Given the description of an element on the screen output the (x, y) to click on. 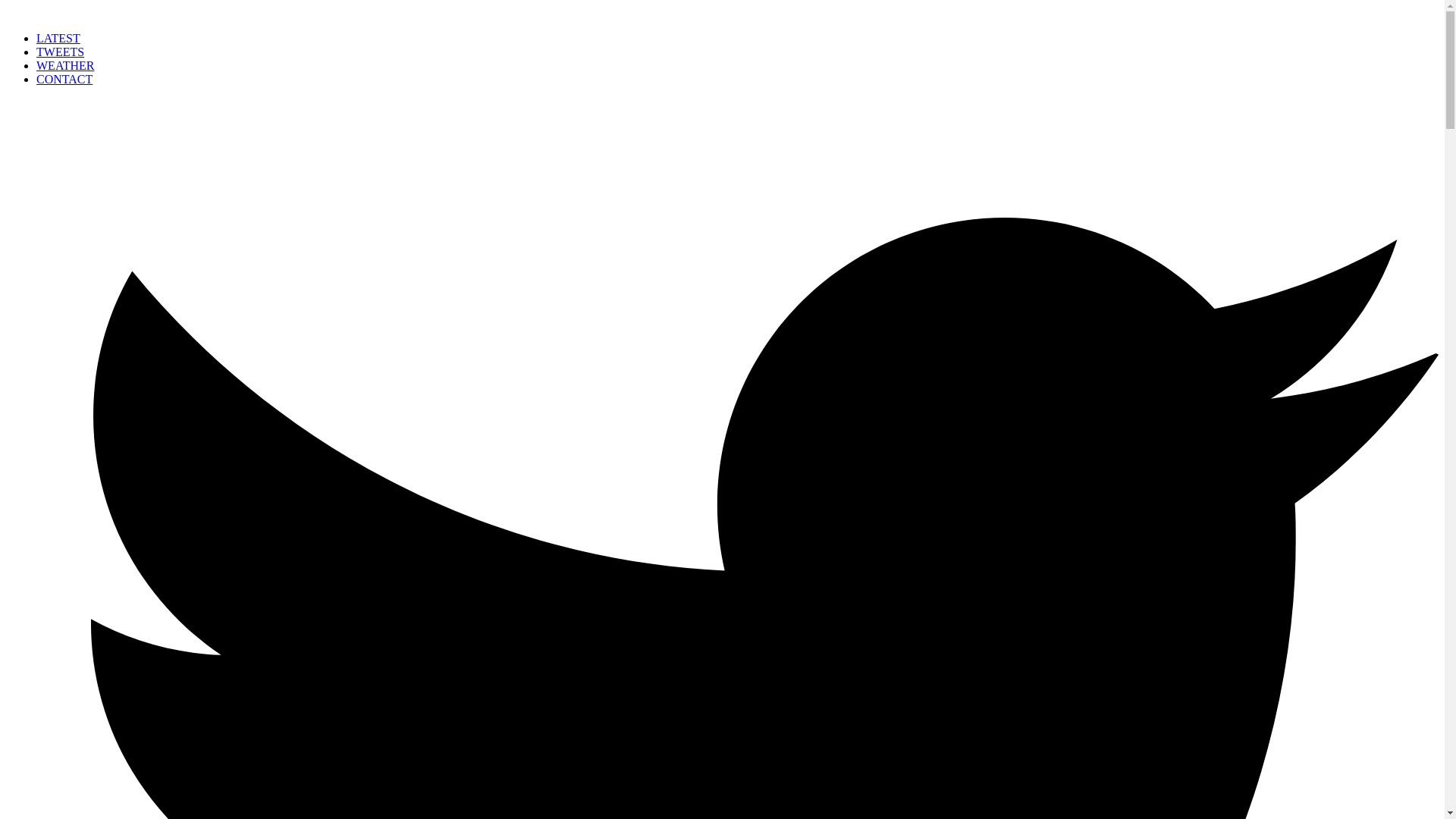
WEATHER (65, 65)
TWEETS (60, 51)
CONTACT (64, 78)
LATEST (58, 38)
